Given the description of an element on the screen output the (x, y) to click on. 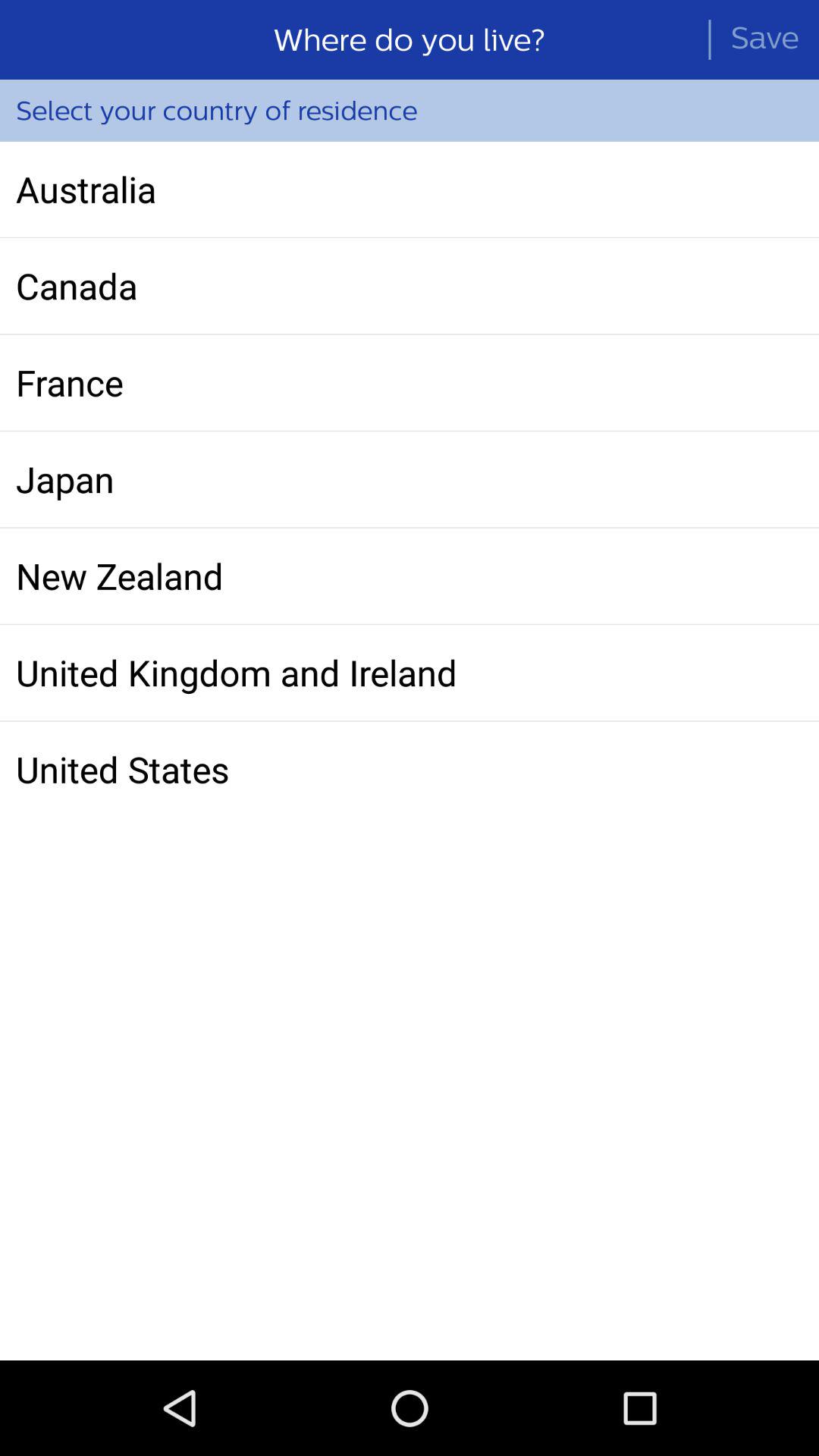
jump until the france (409, 382)
